Given the description of an element on the screen output the (x, y) to click on. 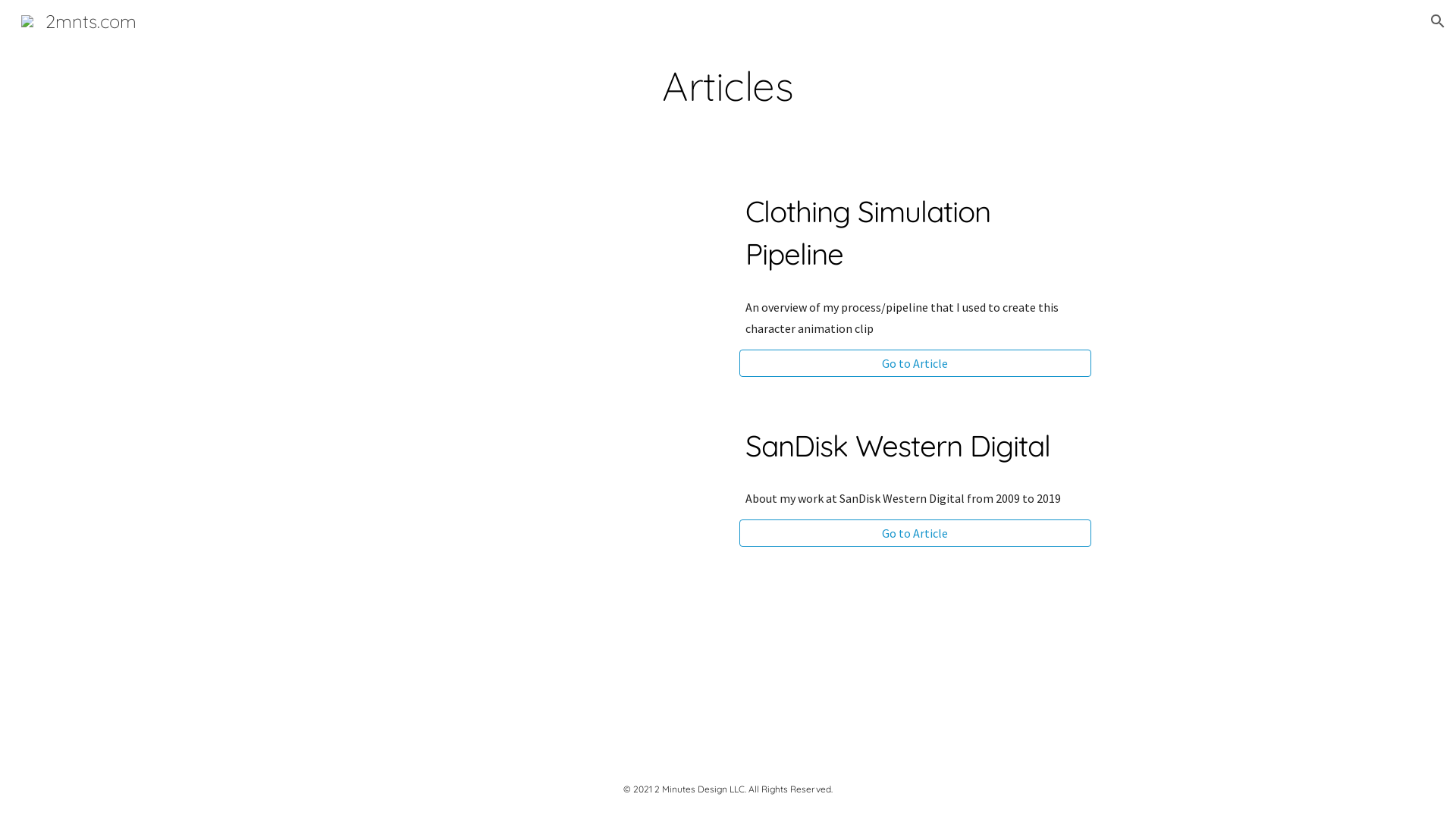
Go to Article Element type: text (915, 362)
Go to Article Element type: text (915, 532)
2mnts.com Element type: text (78, 18)
